Given the description of an element on the screen output the (x, y) to click on. 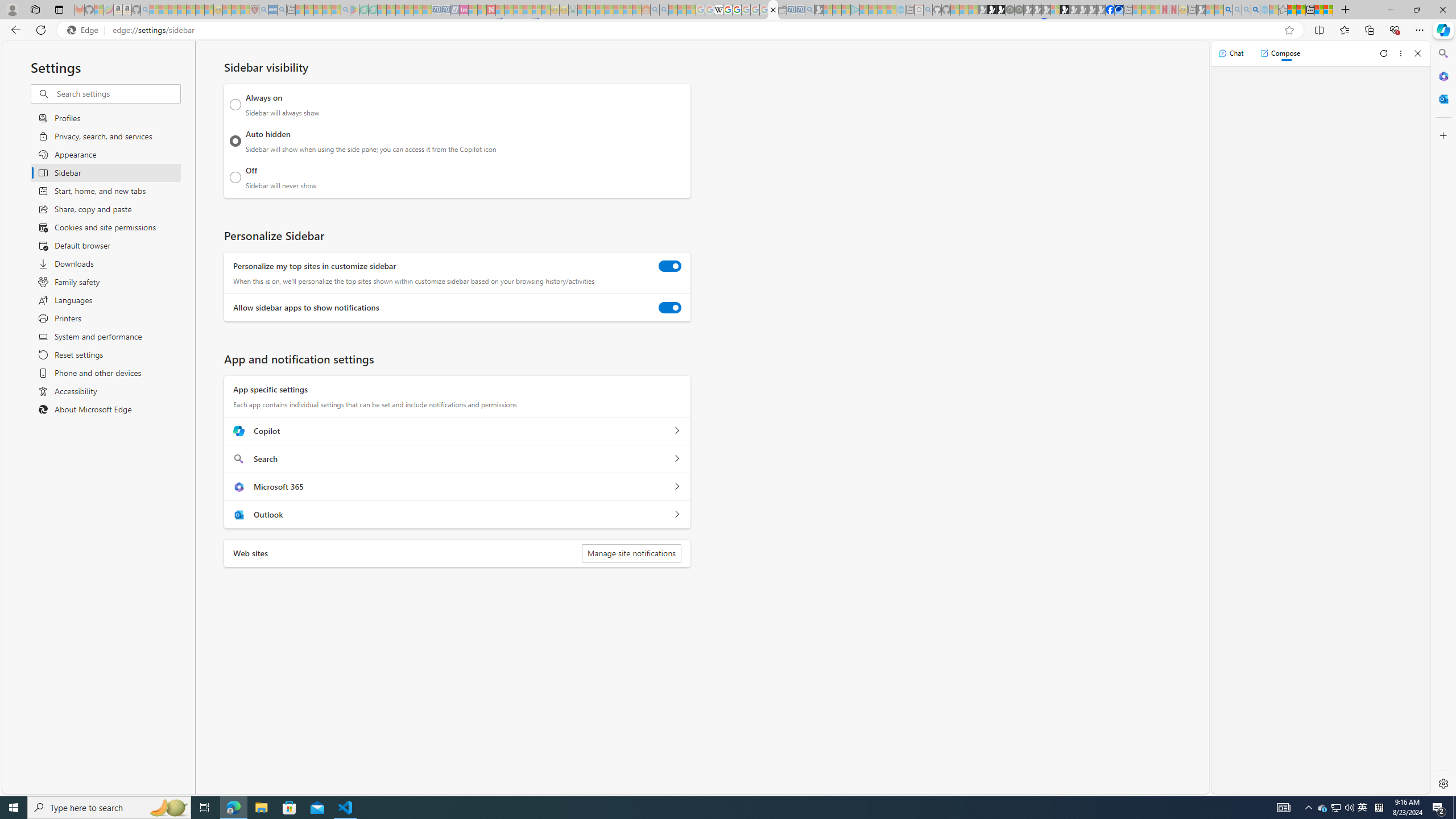
Sign in to your account - Sleeping (1054, 9)
Microsoft Start Gaming - Sleeping (818, 9)
Manage site notifications (630, 553)
